Given the description of an element on the screen output the (x, y) to click on. 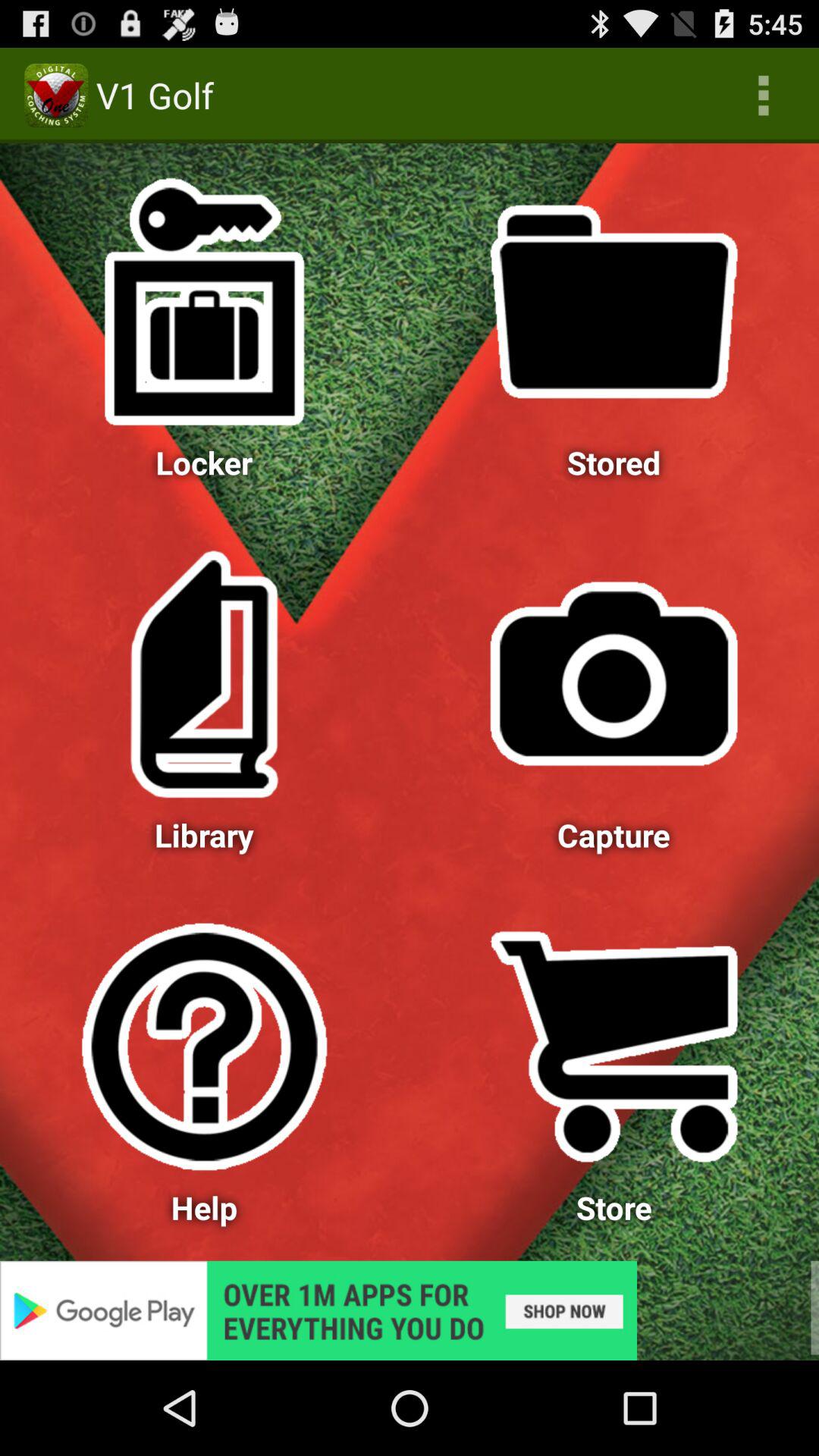
go to advertisement 's page (409, 1310)
